Given the description of an element on the screen output the (x, y) to click on. 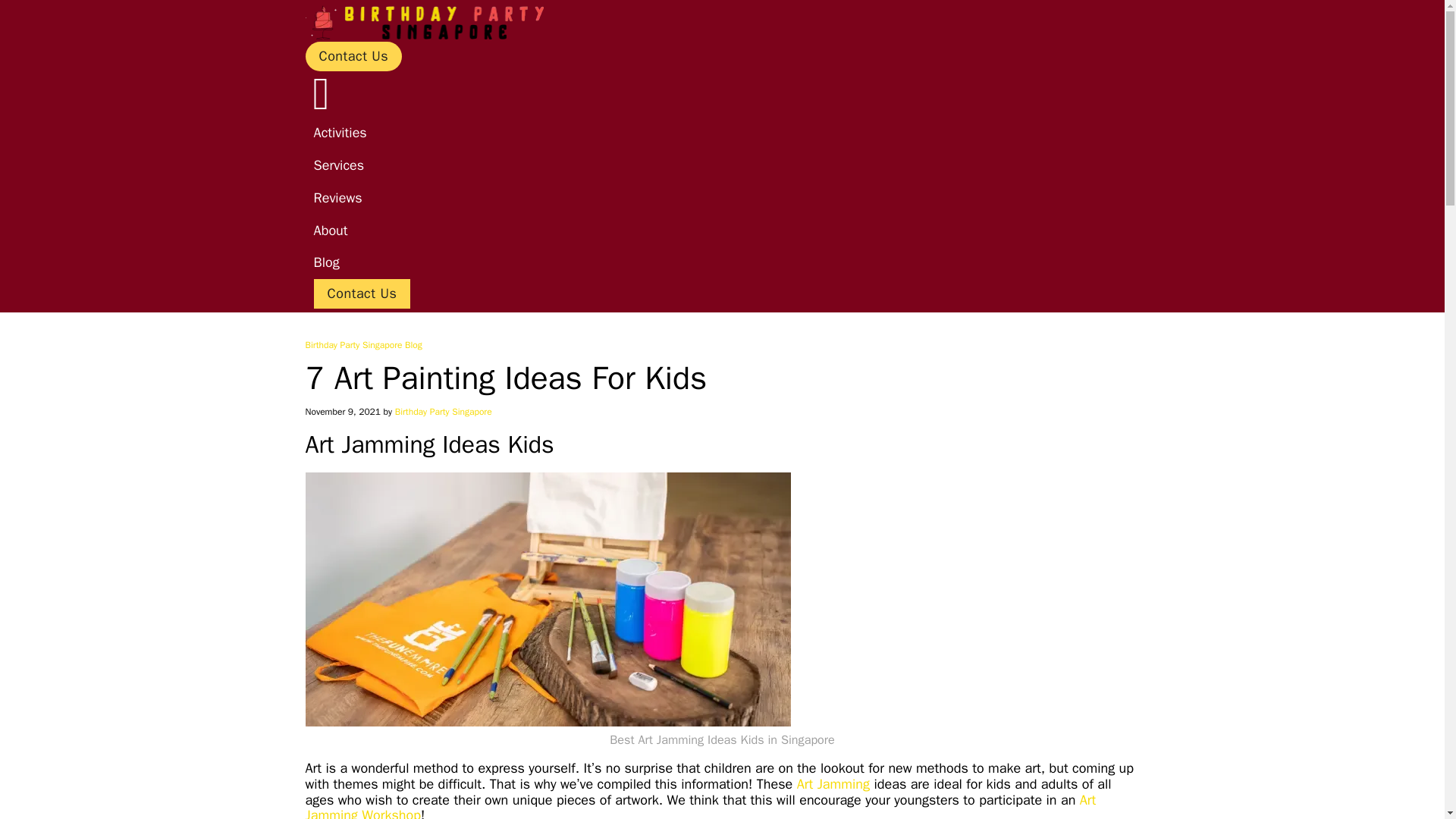
Contact Us (352, 56)
